Given the description of an element on the screen output the (x, y) to click on. 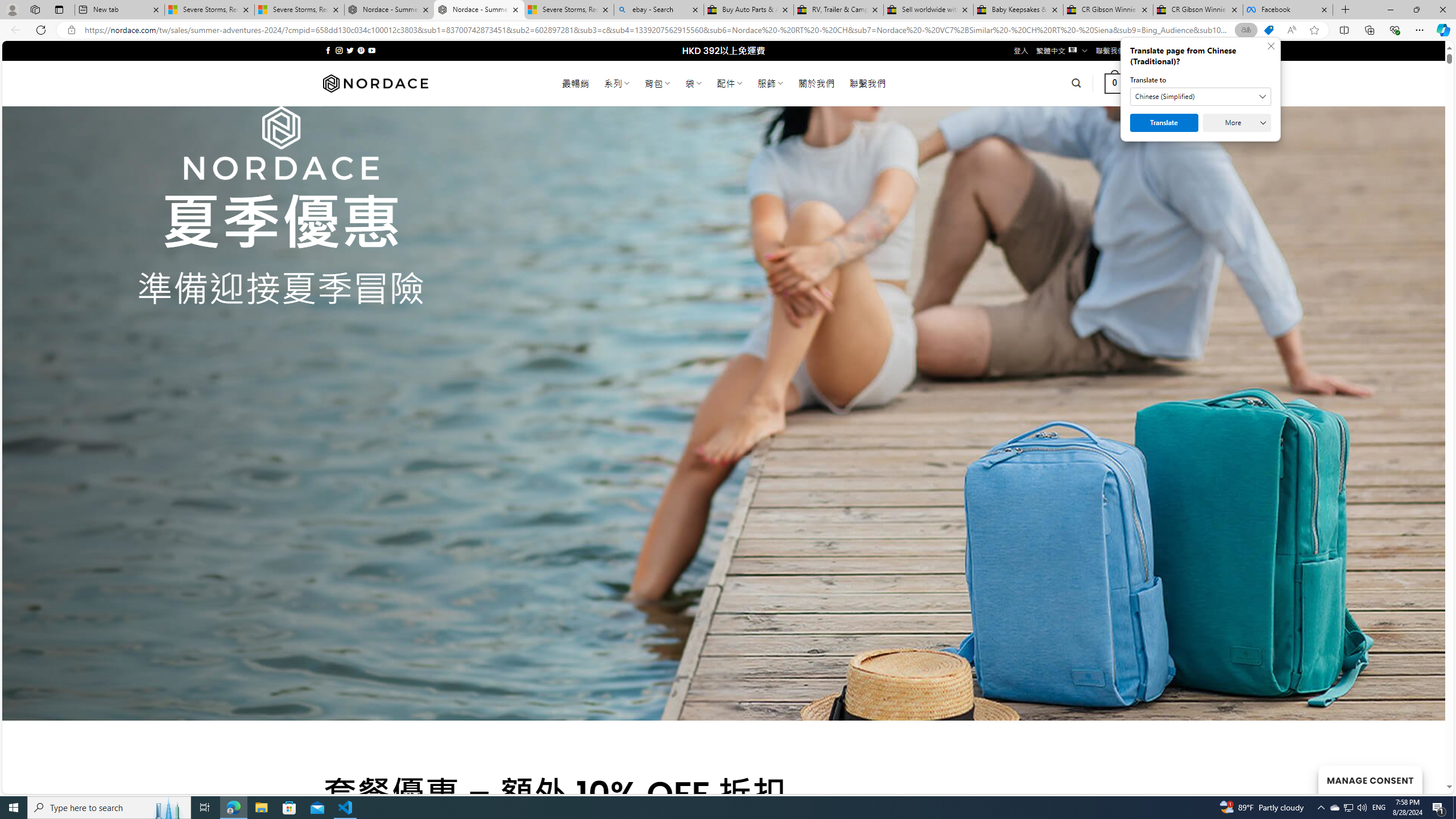
More (1236, 122)
Follow on Twitter (349, 50)
Sell worldwide with eBay (928, 9)
 0  (1115, 83)
Buy Auto Parts & Accessories | eBay (747, 9)
Baby Keepsakes & Announcements for sale | eBay (1018, 9)
